Given the description of an element on the screen output the (x, y) to click on. 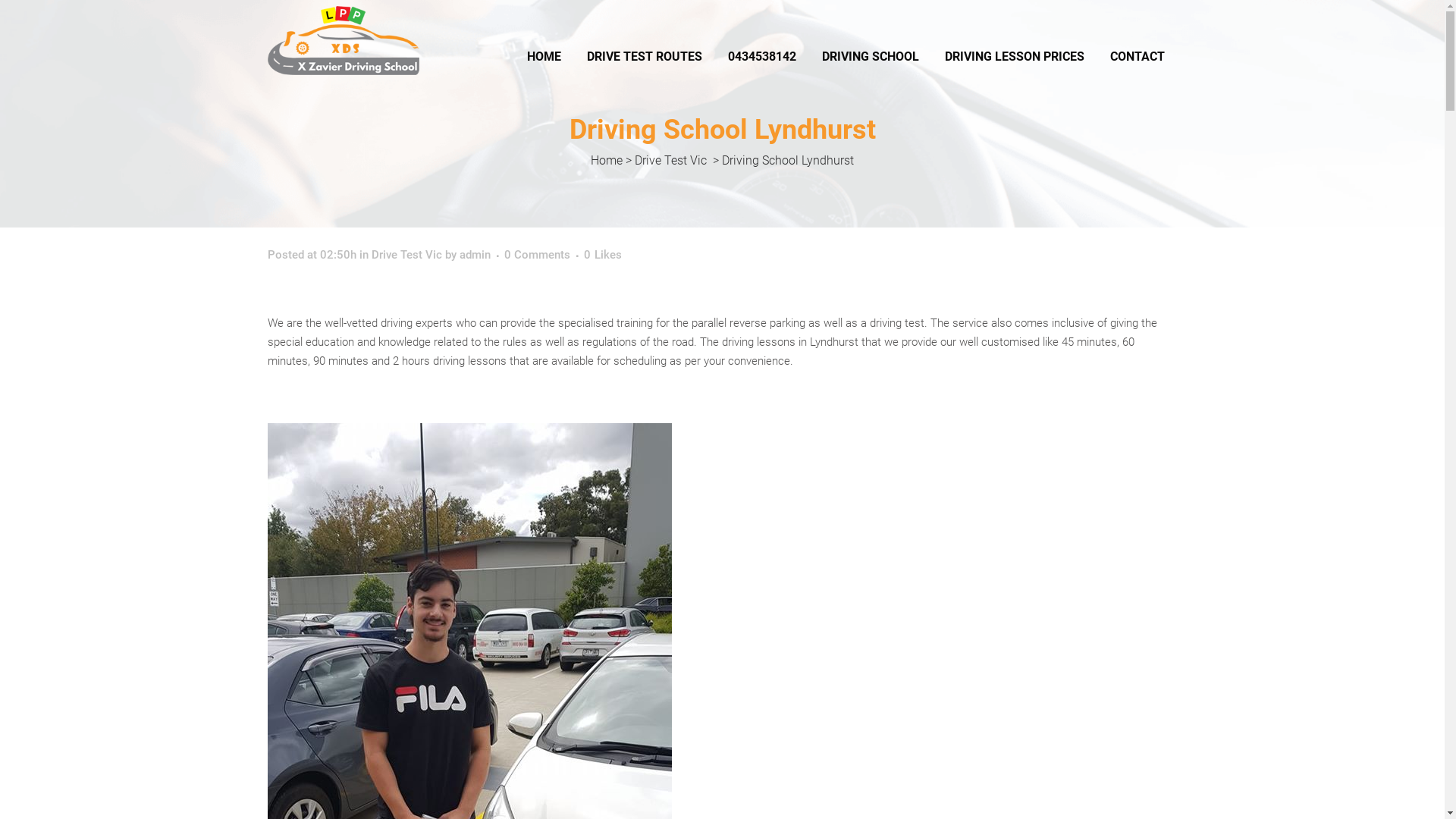
Home Element type: text (606, 160)
HOME Element type: text (544, 56)
admin Element type: text (474, 254)
DRIVING SCHOOL Element type: text (869, 56)
DRIVE TEST ROUTES Element type: text (643, 56)
DRIVING LESSON PRICES Element type: text (1013, 56)
0 Comments Element type: text (536, 254)
CONTACT Element type: text (1136, 56)
0434538142 Element type: text (761, 56)
Drive Test Vic Element type: text (670, 160)
Drive Test Vic Element type: text (406, 254)
0 Likes Element type: text (602, 254)
